Given the description of an element on the screen output the (x, y) to click on. 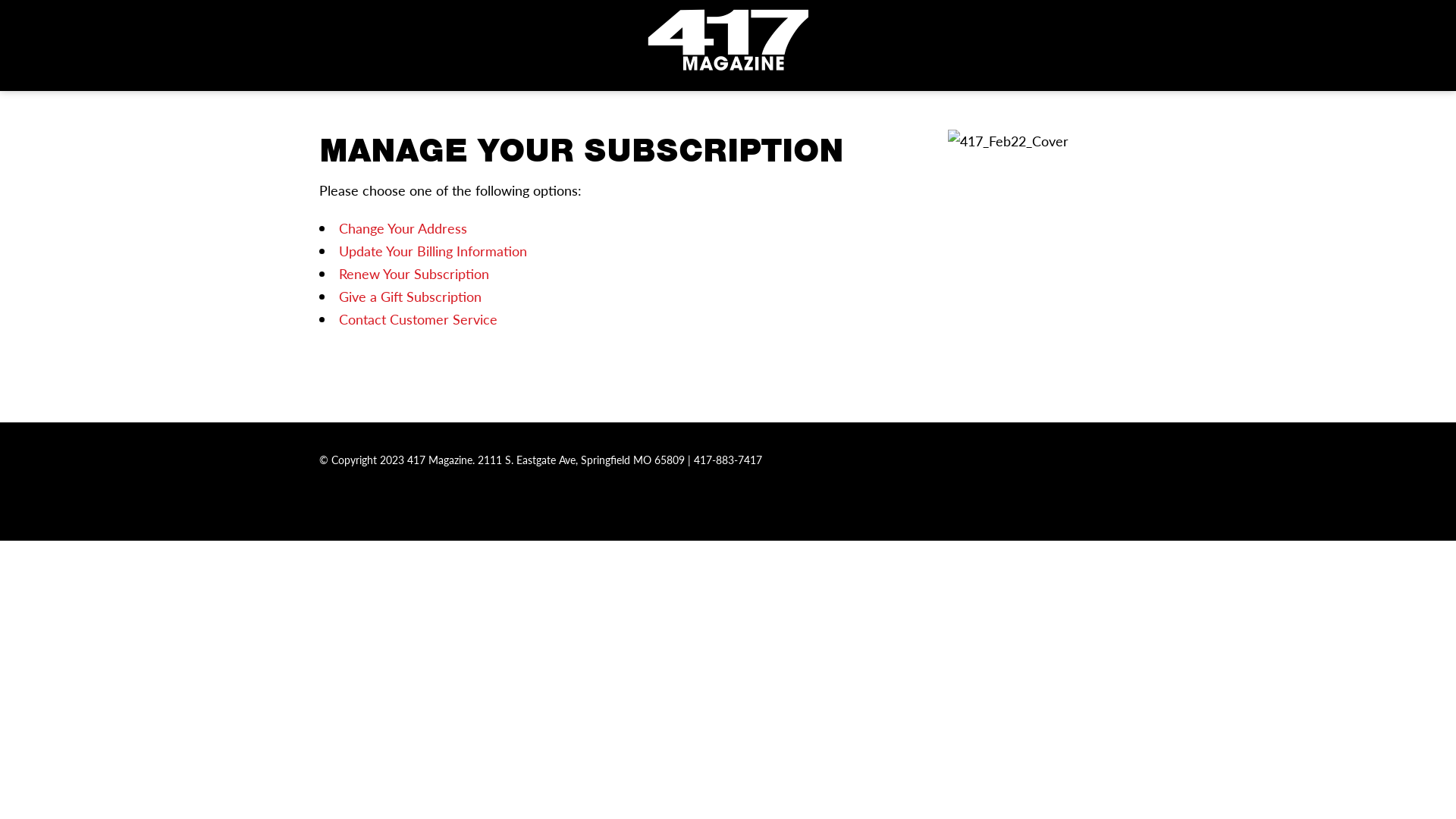
Change Your Address Element type: text (402, 227)
2111 S. Eastgate Ave, Springfield MO 65809 Element type: text (580, 459)
417_Feb22_Cover Element type: hover (1007, 140)
417-883-7417 Element type: text (727, 459)
Renew Your Subscription Element type: text (413, 272)
Give a Gift Subscription Element type: text (409, 295)
Update Your Billing Information Element type: text (432, 250)
Contact Customer Service Element type: text (417, 318)
